Given the description of an element on the screen output the (x, y) to click on. 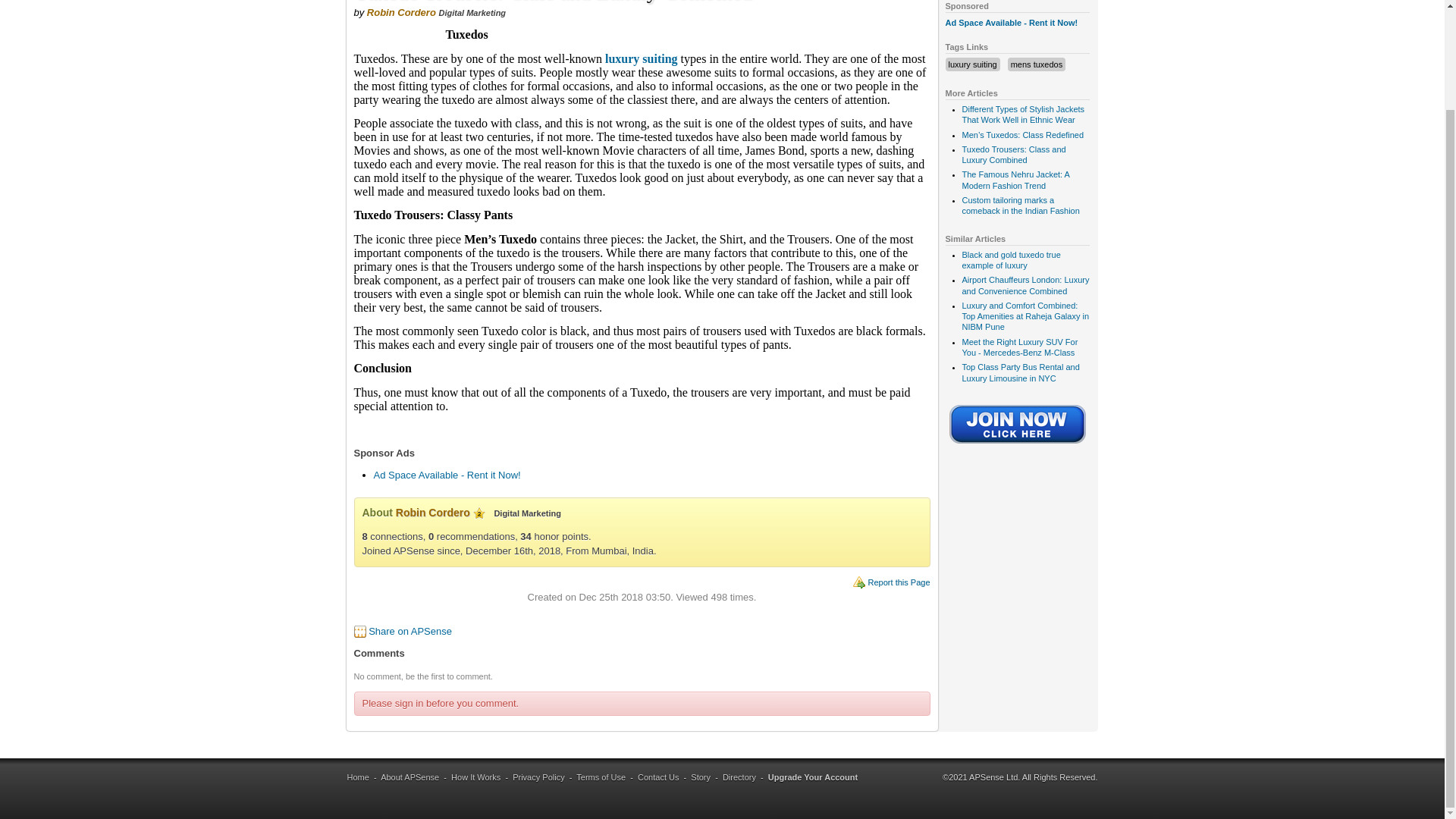
Robin Cordero (400, 12)
Report this Page (898, 582)
The Famous Nehru Jacket: A Modern Fashion Trend (1014, 179)
Share on APSense (409, 631)
Robin Cordero (433, 512)
Tuxedo Trousers: Class and Luxury Combined (1012, 154)
Airport Chauffeurs London: Luxury and Convenience Combined (1024, 284)
Meet the Right Luxury SUV For You - Mercedes-Benz M-Class (1018, 347)
Top Class Party Bus Rental and Luxury Limousine in NYC (1019, 372)
luxury suiting (971, 63)
Tuxedo Trousers: Class and Luxury Combined (1012, 154)
mens tuxedos (1036, 63)
Custom tailoring marks a comeback in the Indian Fashion (1019, 205)
